Given the description of an element on the screen output the (x, y) to click on. 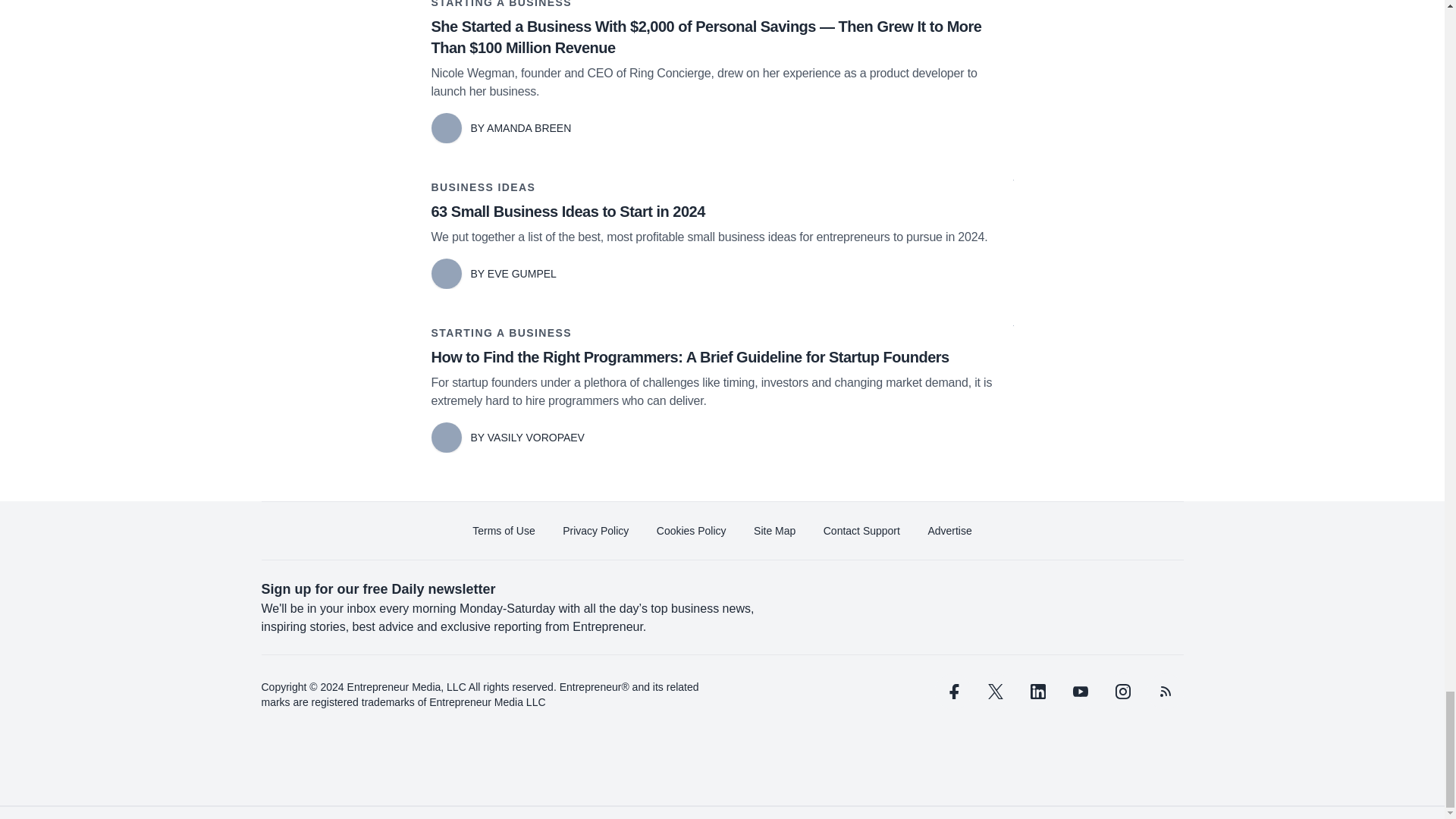
twitter (994, 691)
linkedin (1037, 691)
instagram (1121, 691)
rss (1164, 691)
facebook (952, 691)
youtube (1079, 691)
